Given the description of an element on the screen output the (x, y) to click on. 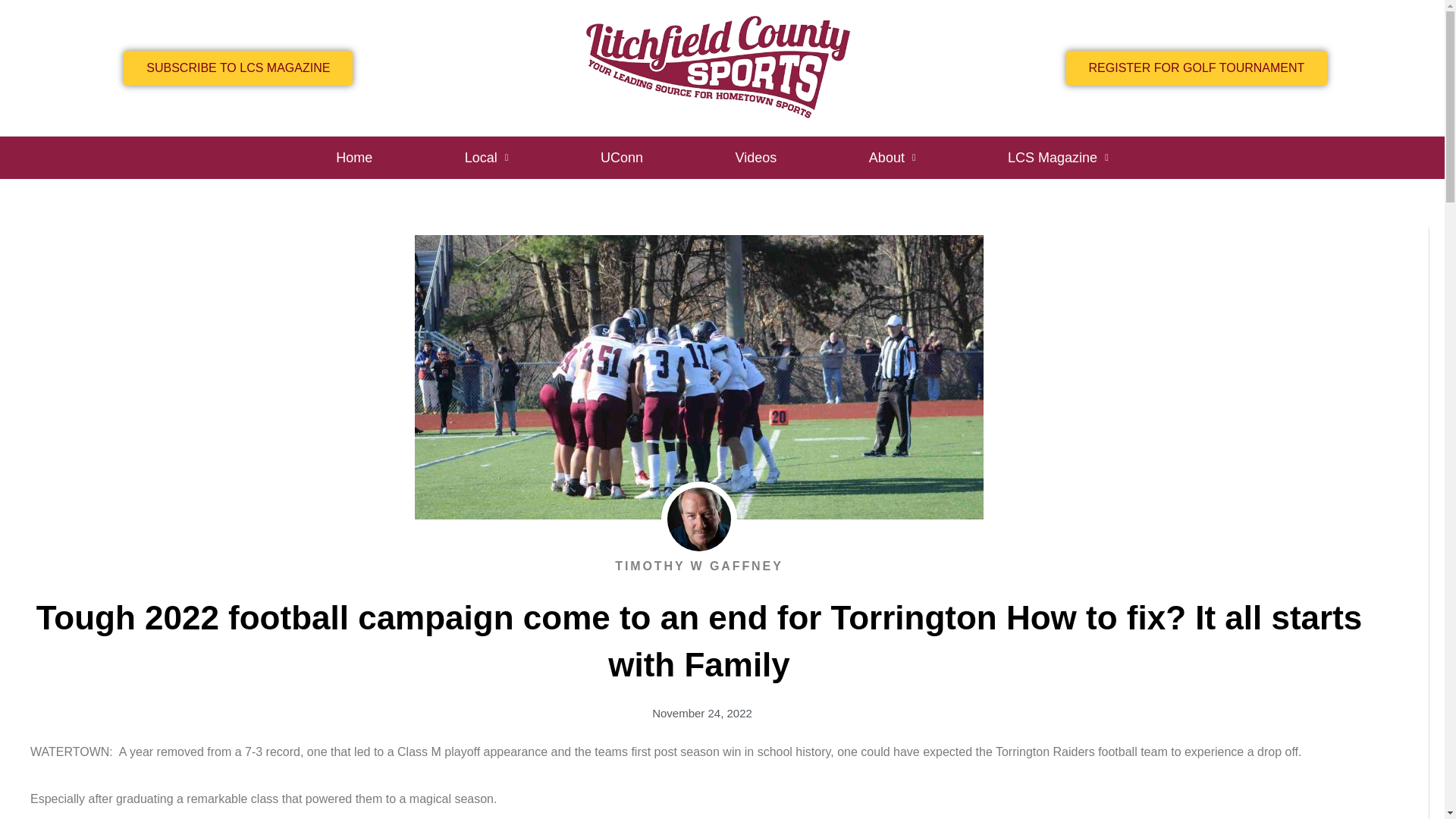
Videos (755, 157)
SUBSCRIBE TO LCS MAGAZINE (237, 67)
About (891, 157)
LCS Magazine (1057, 157)
Local (486, 157)
REGISTER FOR GOLF TOURNAMENT (1196, 67)
UConn (621, 157)
Home (354, 157)
